Given the description of an element on the screen output the (x, y) to click on. 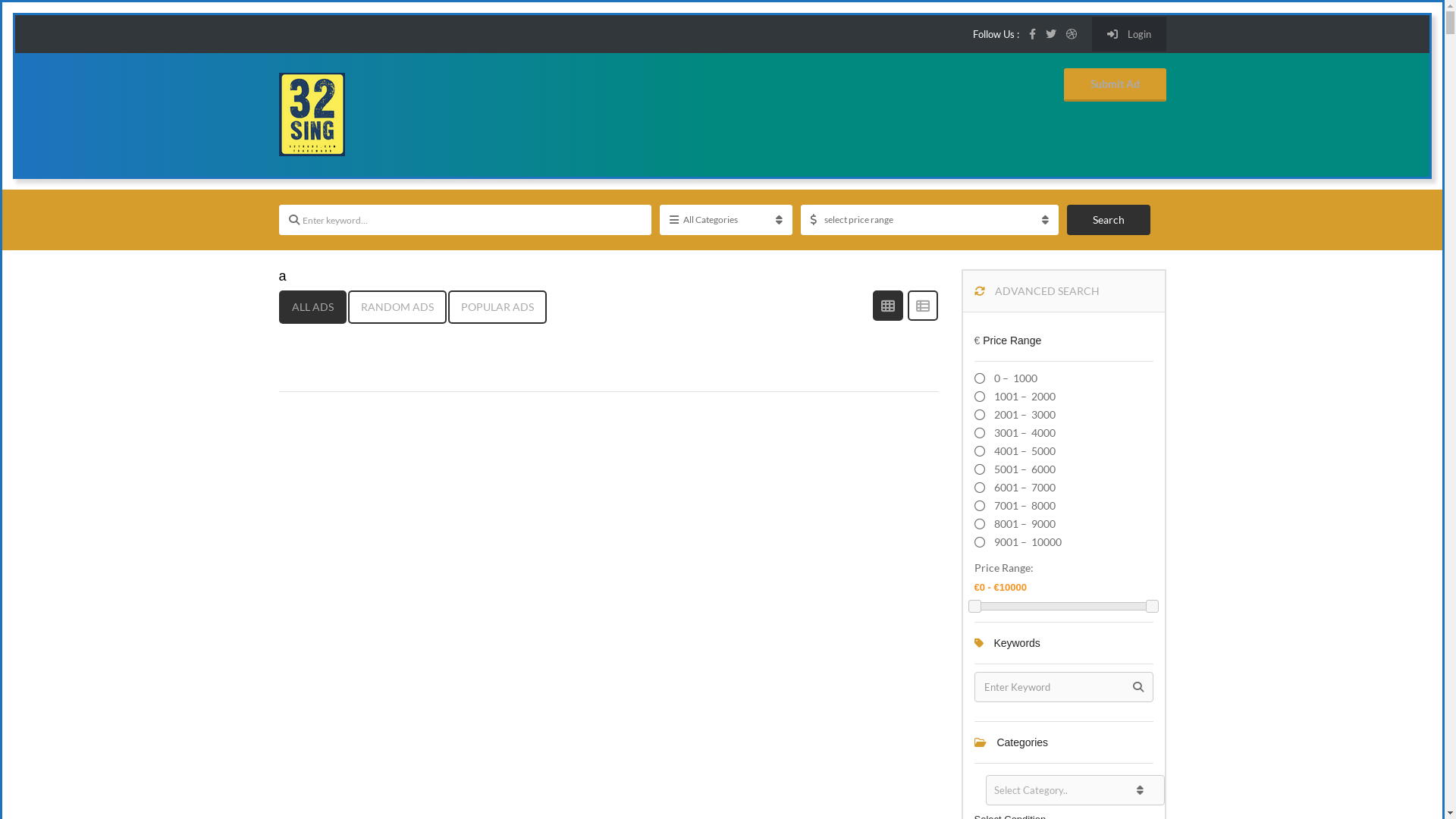
Login Element type: text (1129, 33)
ALL ADS Element type: text (312, 306)
RANDOM ADS Element type: text (396, 306)
POPULAR ADS Element type: text (496, 306)
ADVANCED SEARCH Element type: text (1063, 290)
Search Element type: text (1108, 219)
Submit Ad Element type: text (1114, 84)
